Given the description of an element on the screen output the (x, y) to click on. 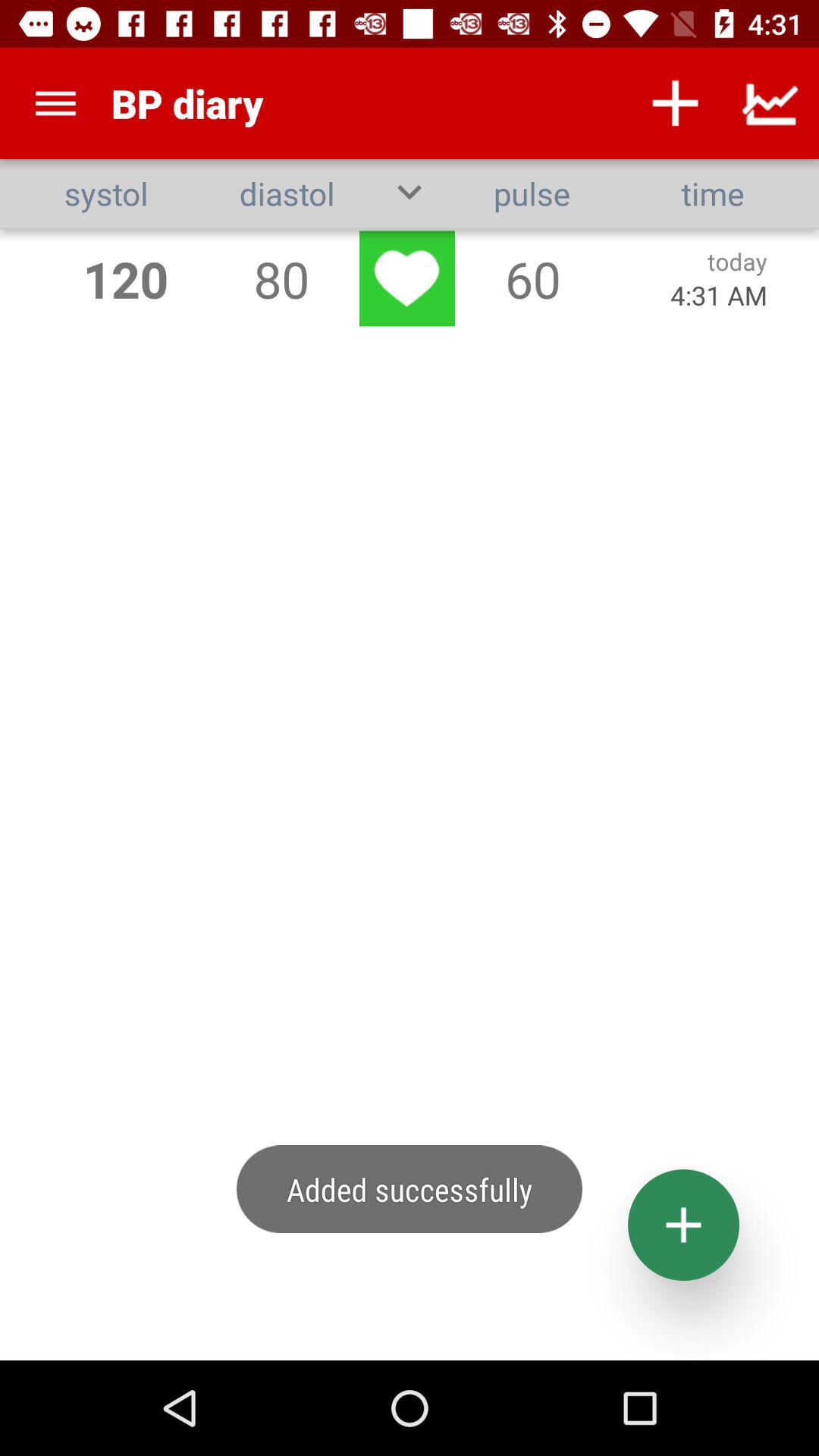
choose app below time icon (737, 261)
